Given the description of an element on the screen output the (x, y) to click on. 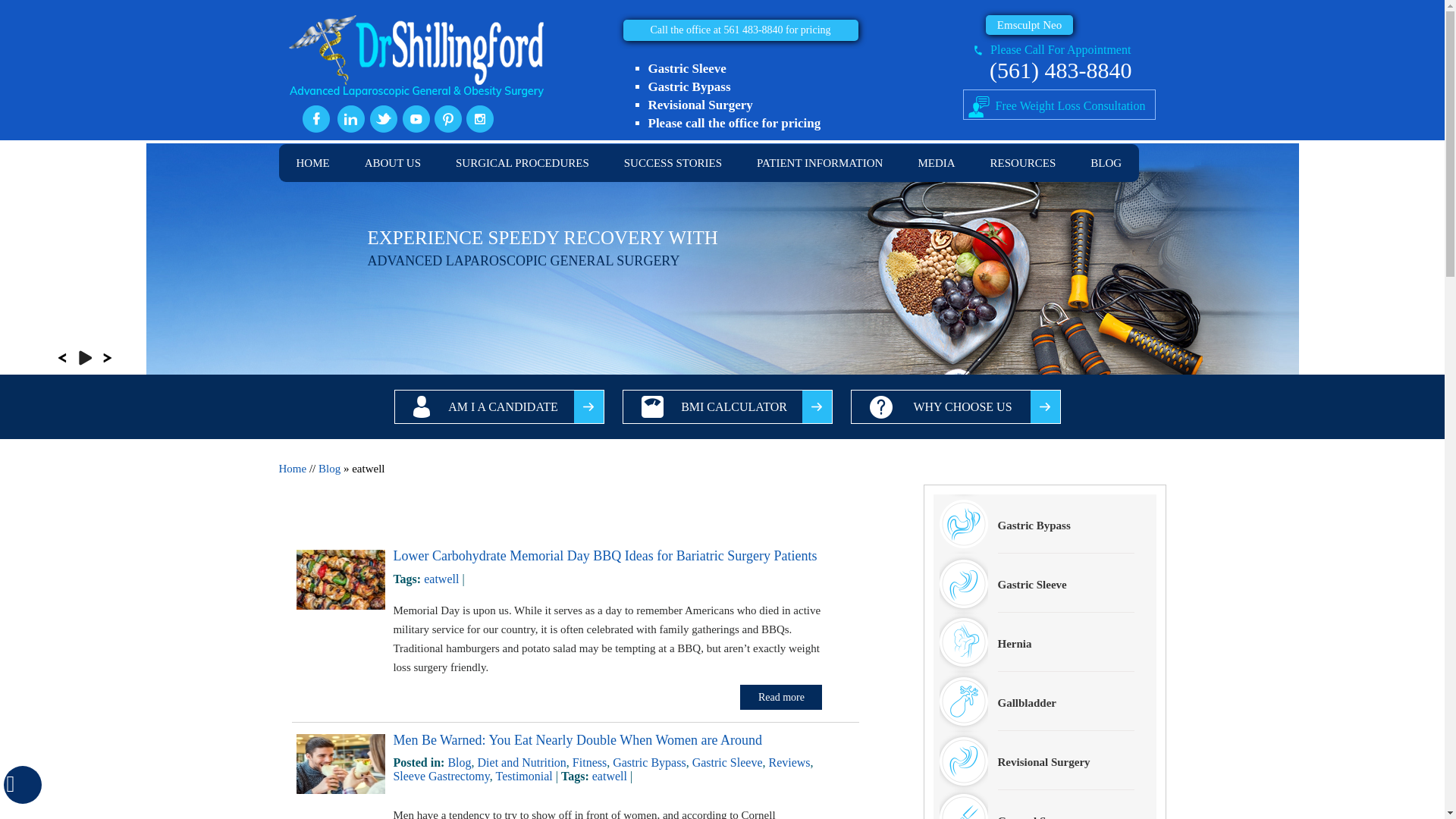
PATIENT INFORMATION (819, 162)
Men Be Warned: You Eat Nearly Double When Women are Around (340, 789)
SURGICAL PROCEDURES (522, 162)
Hide (22, 784)
ABOUT US (392, 162)
HOME (313, 162)
Accessible Tool Options (23, 784)
Free Weight Loss Consultation (1059, 104)
Emsculpt Neo (1029, 25)
SUCCESS STORIES (673, 162)
Next Slide (107, 357)
Previous Slide (61, 357)
